Given the description of an element on the screen output the (x, y) to click on. 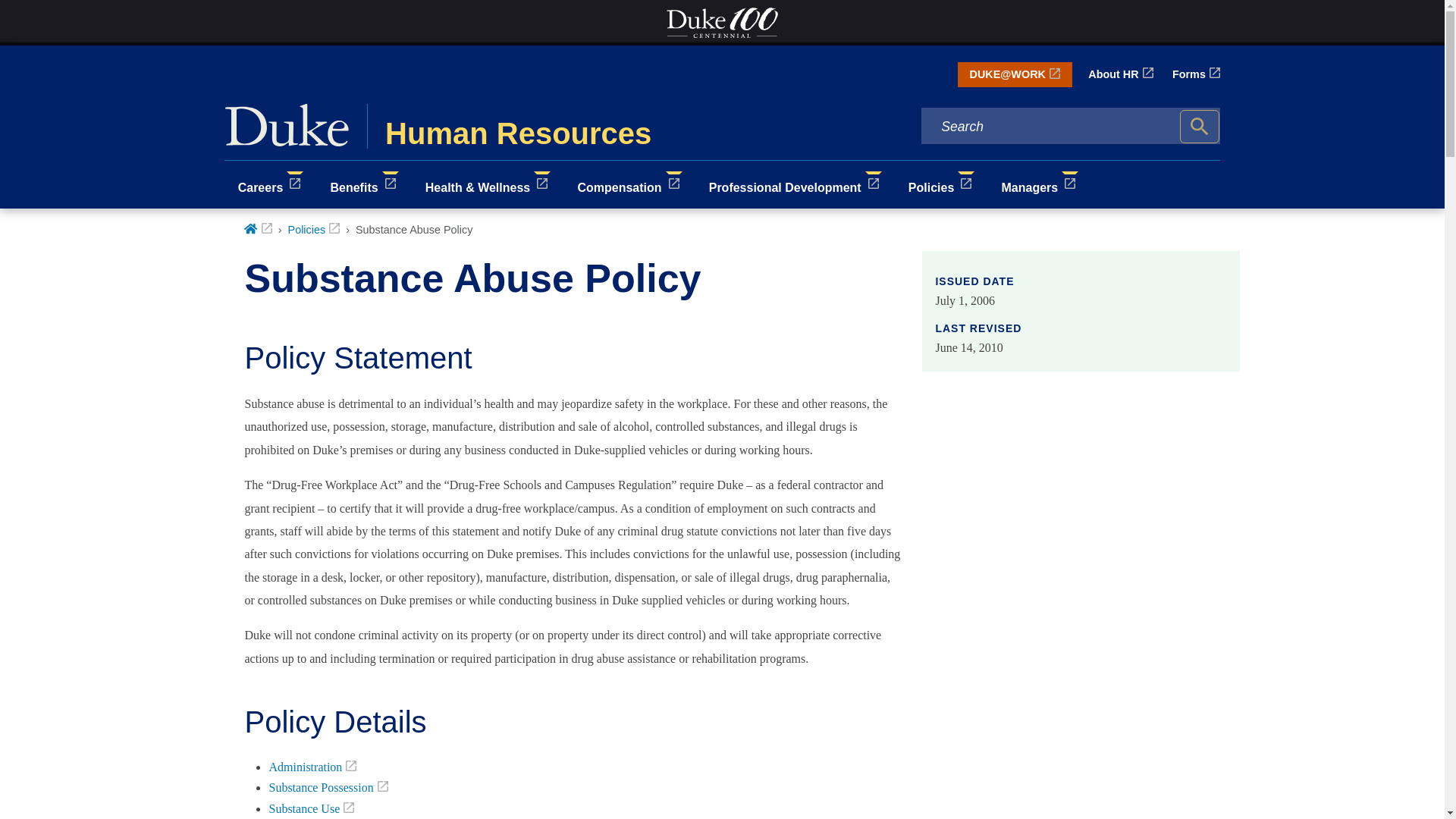
Home (257, 229)
Forms (1196, 74)
Careers (270, 184)
Benefits (364, 184)
Human Resources (547, 126)
About HR (1120, 74)
